Given the description of an element on the screen output the (x, y) to click on. 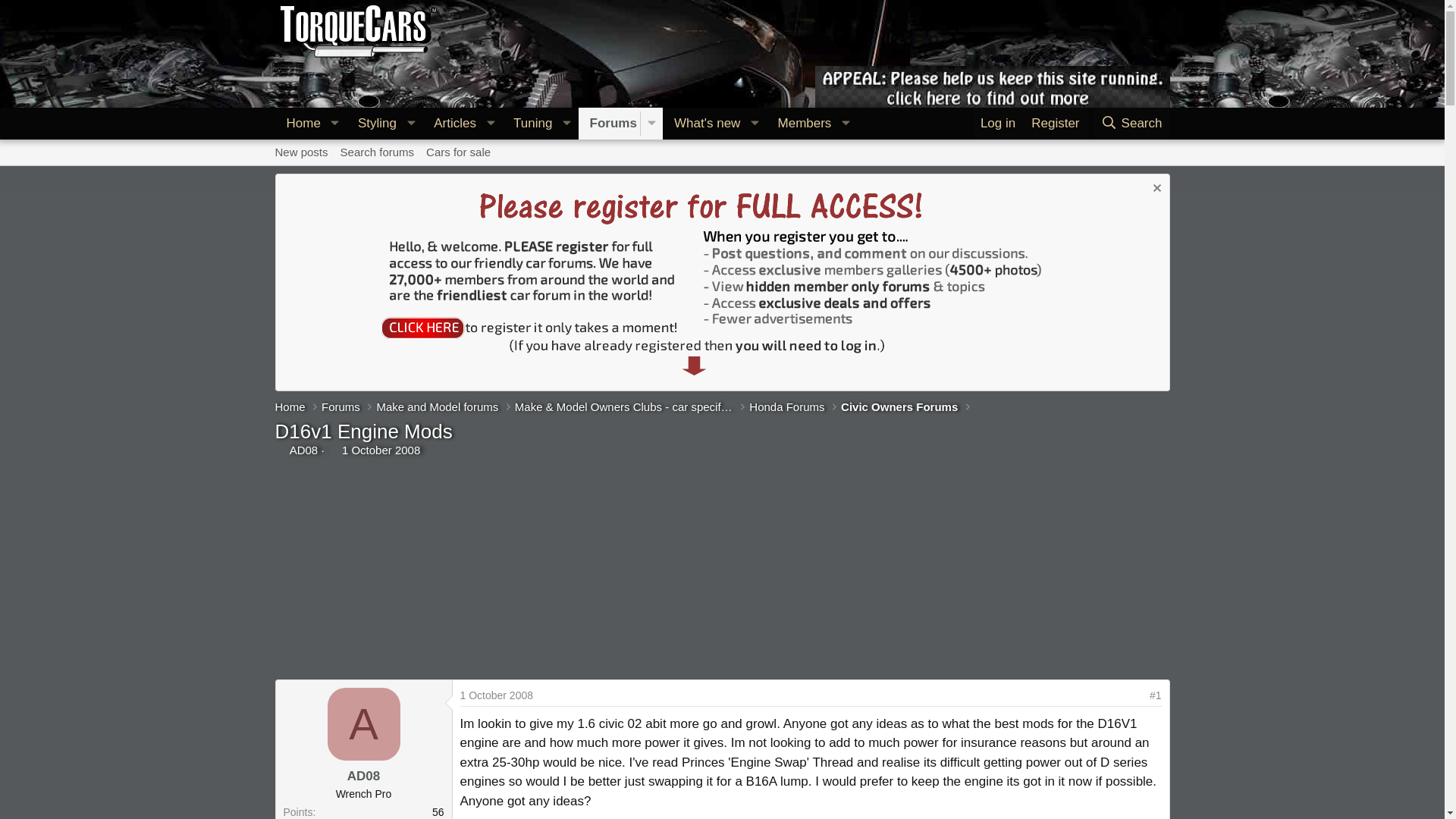
1 October 2008 at 16:06 (381, 449)
Thread starter (280, 449)
Start date (333, 449)
Search (565, 123)
Forums (1131, 123)
What's new (609, 123)
Advertisement (565, 140)
